Given the description of an element on the screen output the (x, y) to click on. 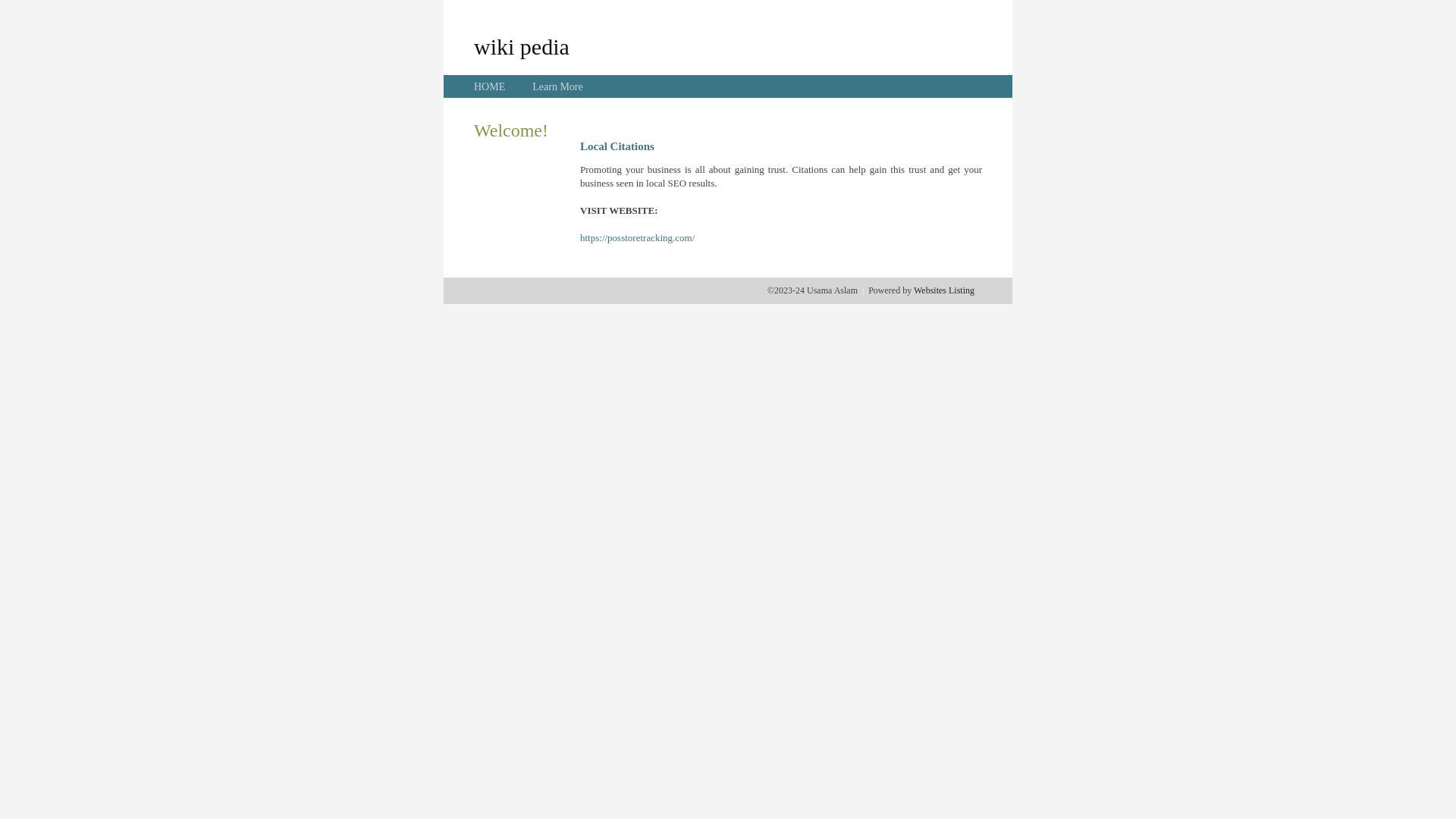
Learn More Element type: text (557, 86)
https://posstoretracking.com/ Element type: text (637, 237)
HOME Element type: text (489, 86)
wiki pedia Element type: text (521, 46)
Websites Listing Element type: text (943, 290)
